Given the description of an element on the screen output the (x, y) to click on. 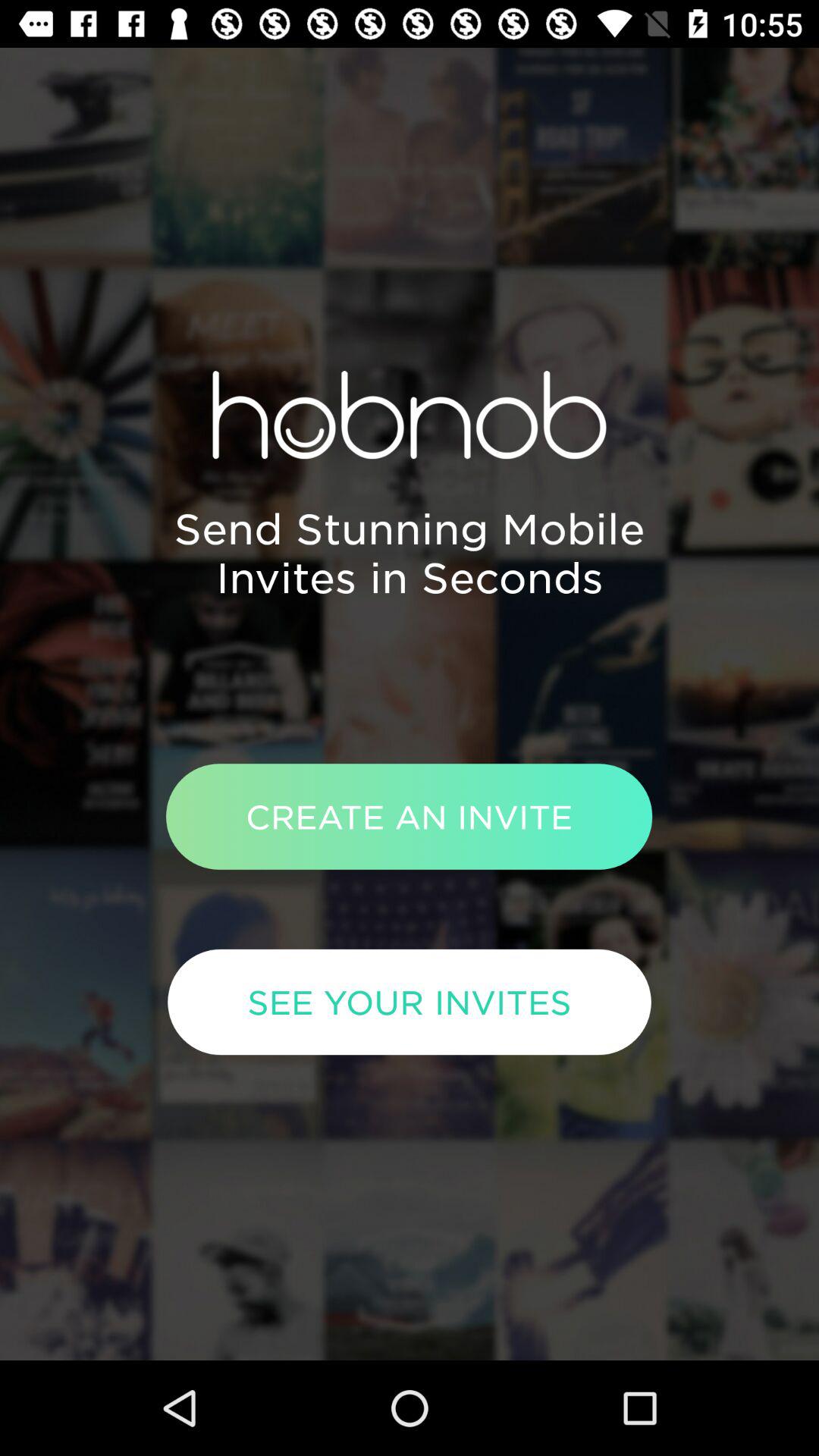
tap the icon below create an invite icon (409, 1002)
